Given the description of an element on the screen output the (x, y) to click on. 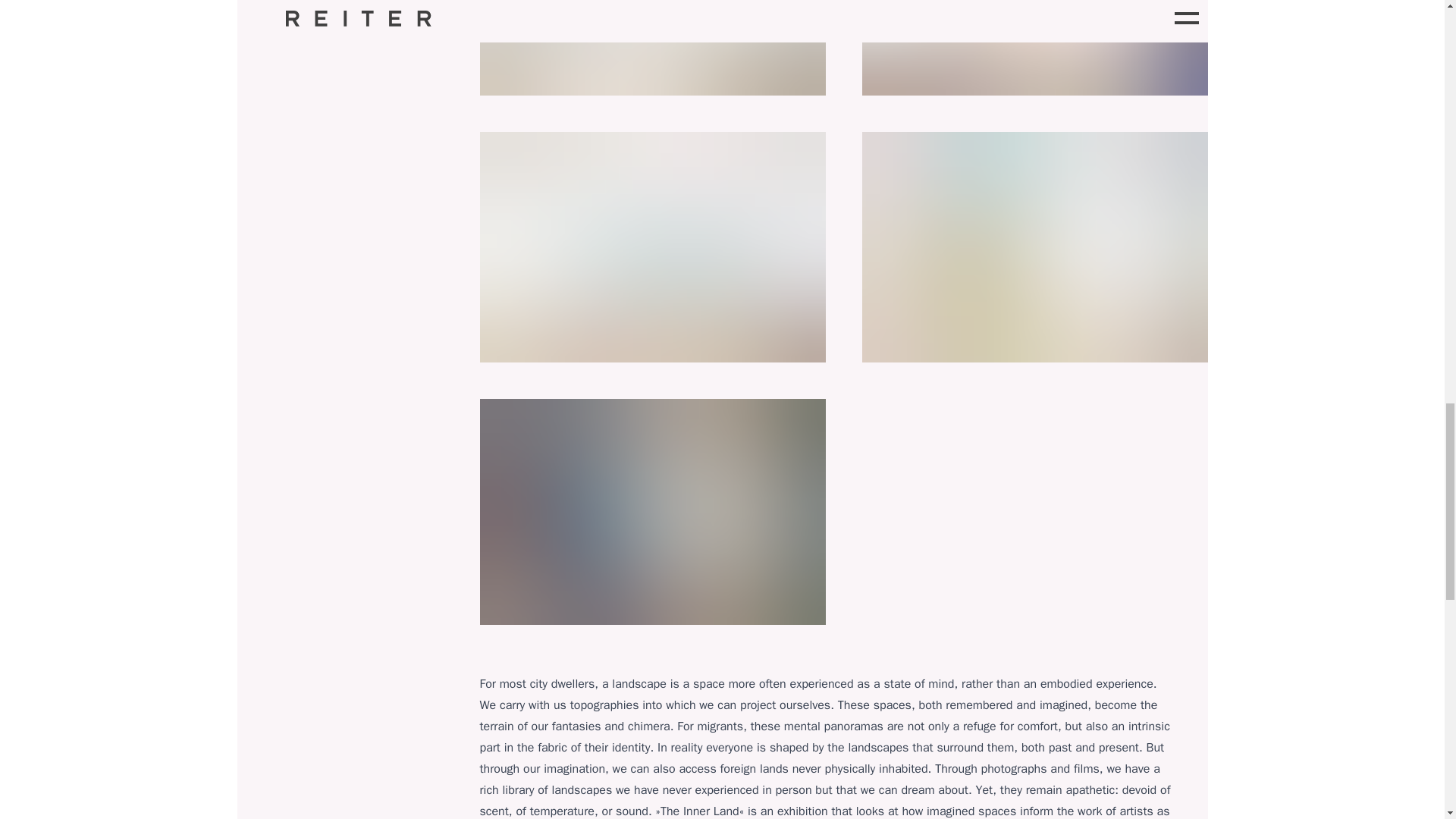
Per Kirkeby . untitled . 1981 . oil on canvas (652, 511)
